Given the description of an element on the screen output the (x, y) to click on. 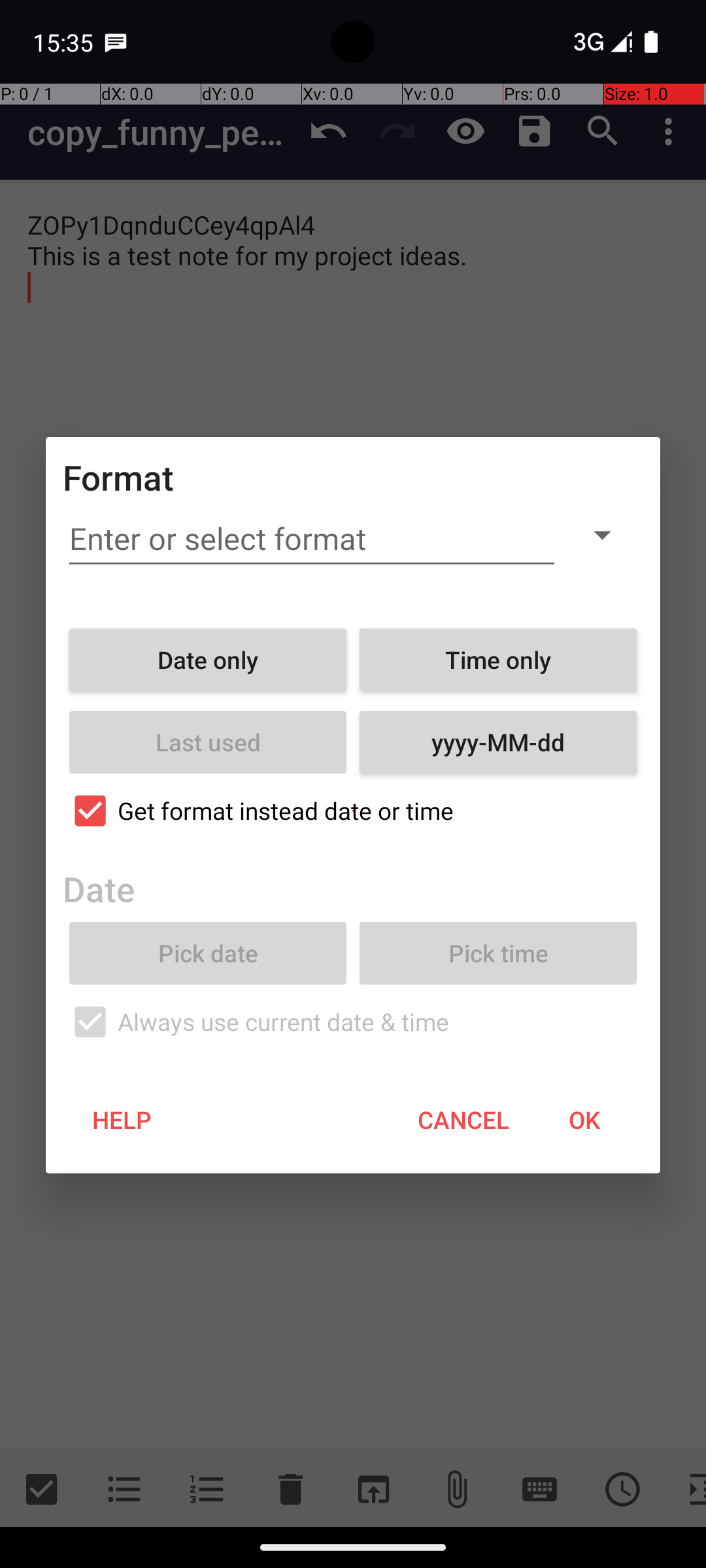
Format Element type: android.widget.TextView (118, 477)
Enter or select format Element type: android.widget.EditText (311, 538)
Choose format Element type: android.widget.TextView (601, 534)
Date only Element type: android.widget.Button (207, 659)
Time only Element type: android.widget.Button (498, 659)
Last used Element type: android.widget.Button (207, 742)
yyyy-MM-dd Element type: android.widget.Button (498, 742)
Get format instead date or time Element type: android.widget.CheckBox (352, 810)
Pick date Element type: android.widget.Button (207, 953)
Pick time Element type: android.widget.Button (498, 953)
Always use current date & time Element type: android.widget.CheckBox (352, 1021)
HELP Element type: android.widget.Button (121, 1119)
